Given the description of an element on the screen output the (x, y) to click on. 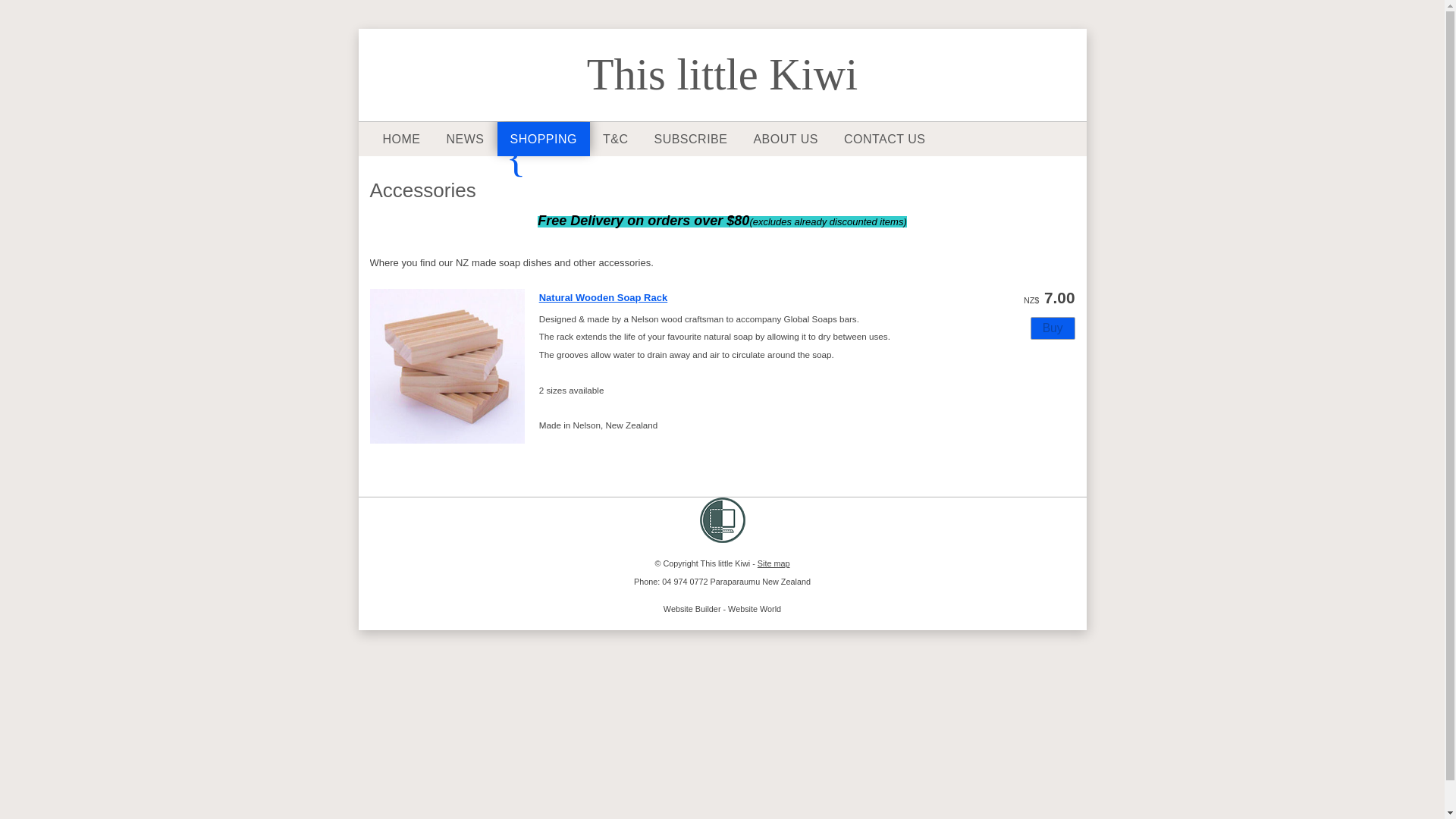
ABOUT US (785, 139)
Buy (1052, 327)
SUBSCRIBE (690, 139)
SHOPPING (542, 139)
This little Kiwi (721, 74)
HOME (400, 139)
Site map (773, 563)
NEWS (464, 139)
Natural Wooden Soap Rack (603, 297)
This little Kiwi (725, 563)
